Given the description of an element on the screen output the (x, y) to click on. 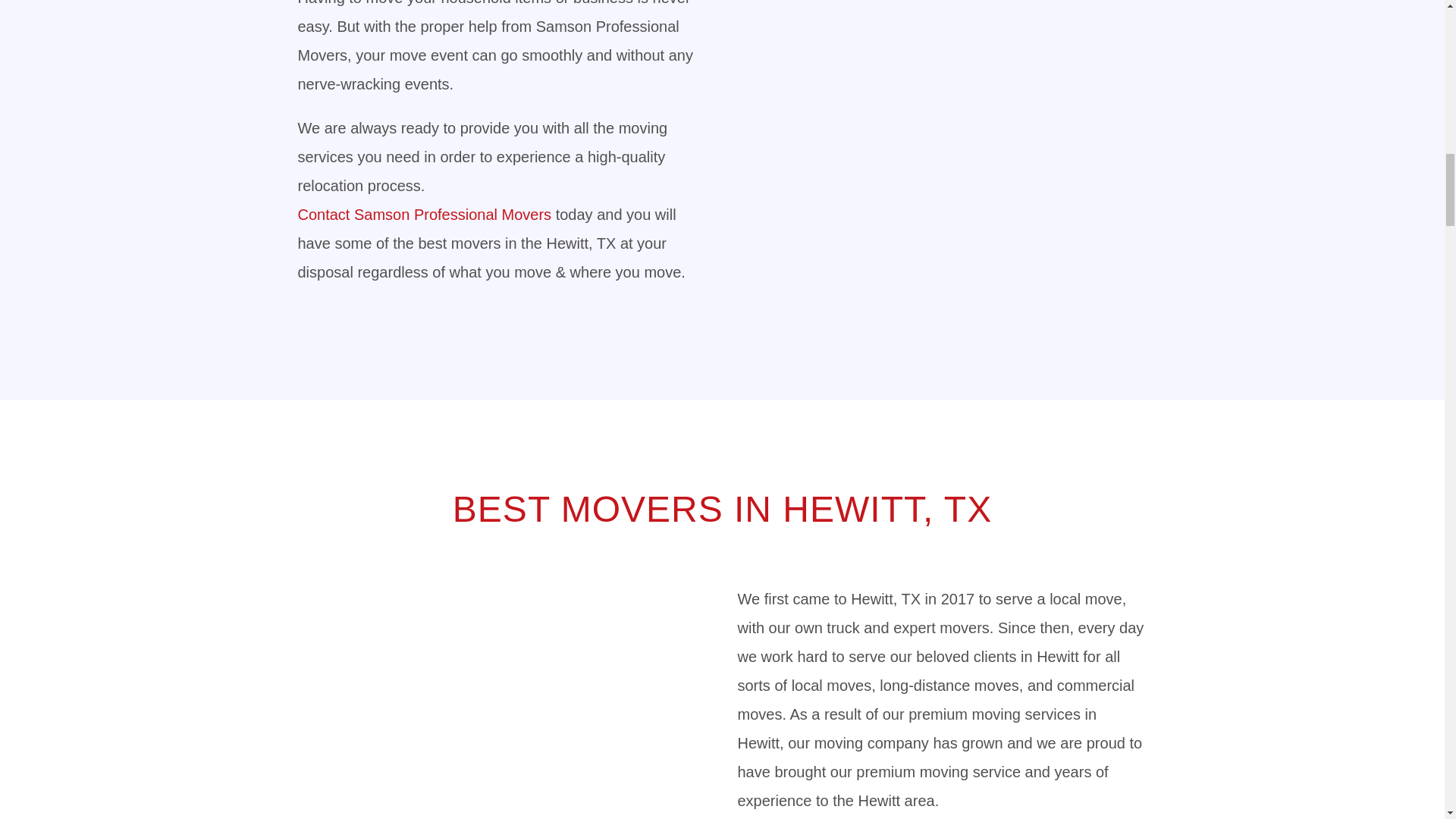
hewitt, tx (941, 148)
